Given the description of an element on the screen output the (x, y) to click on. 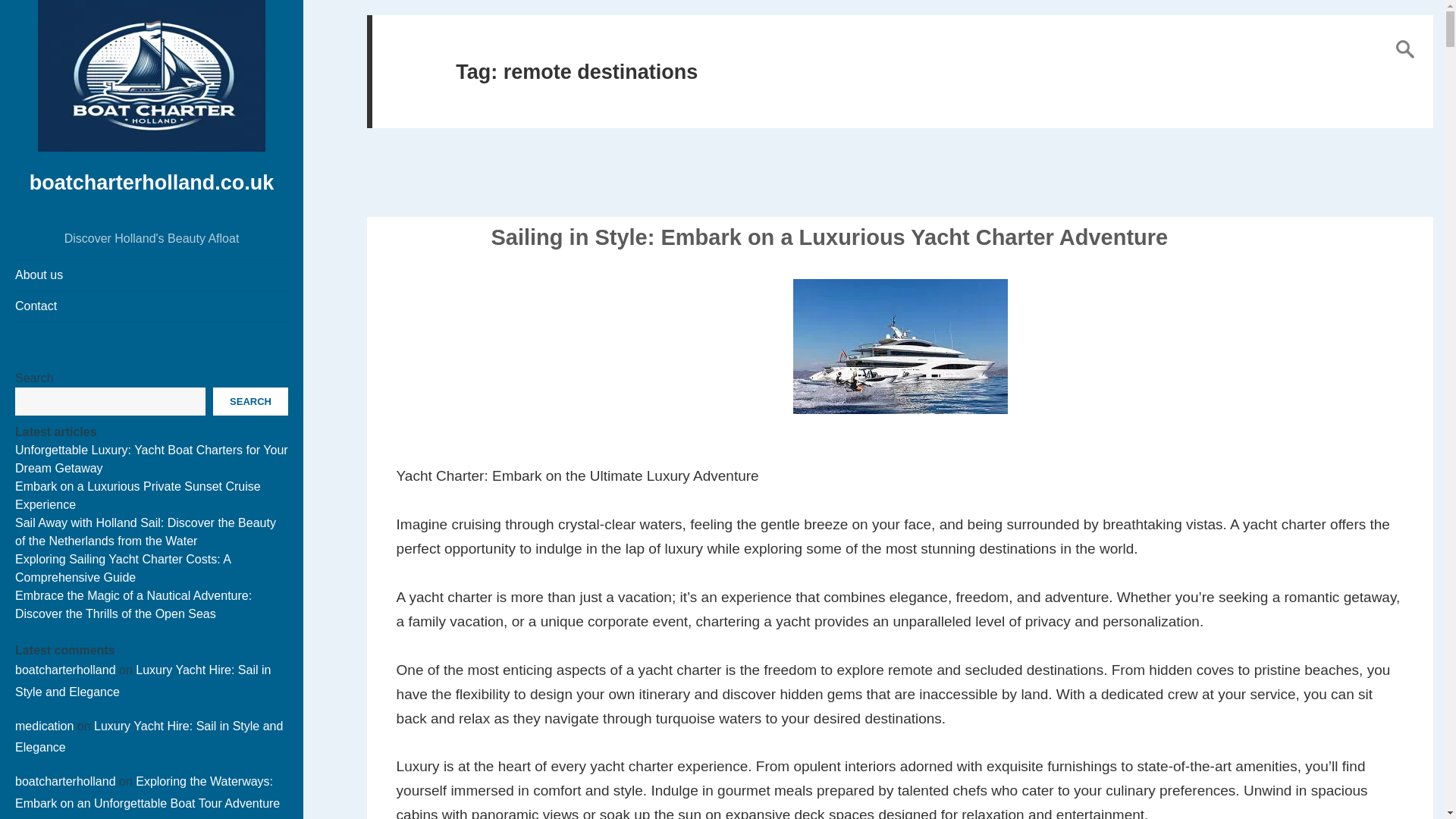
boatcharterholland (65, 780)
About us (151, 275)
Embark on a Luxurious Private Sunset Cruise Experience (137, 495)
1 (1414, 51)
Luxury Yacht Hire: Sail in Style and Elegance (142, 680)
boatcharterholland.co.uk (152, 182)
medication (44, 725)
Contact (151, 306)
1 (1414, 51)
boatcharterholland (65, 669)
SEARCH (250, 401)
